Given the description of an element on the screen output the (x, y) to click on. 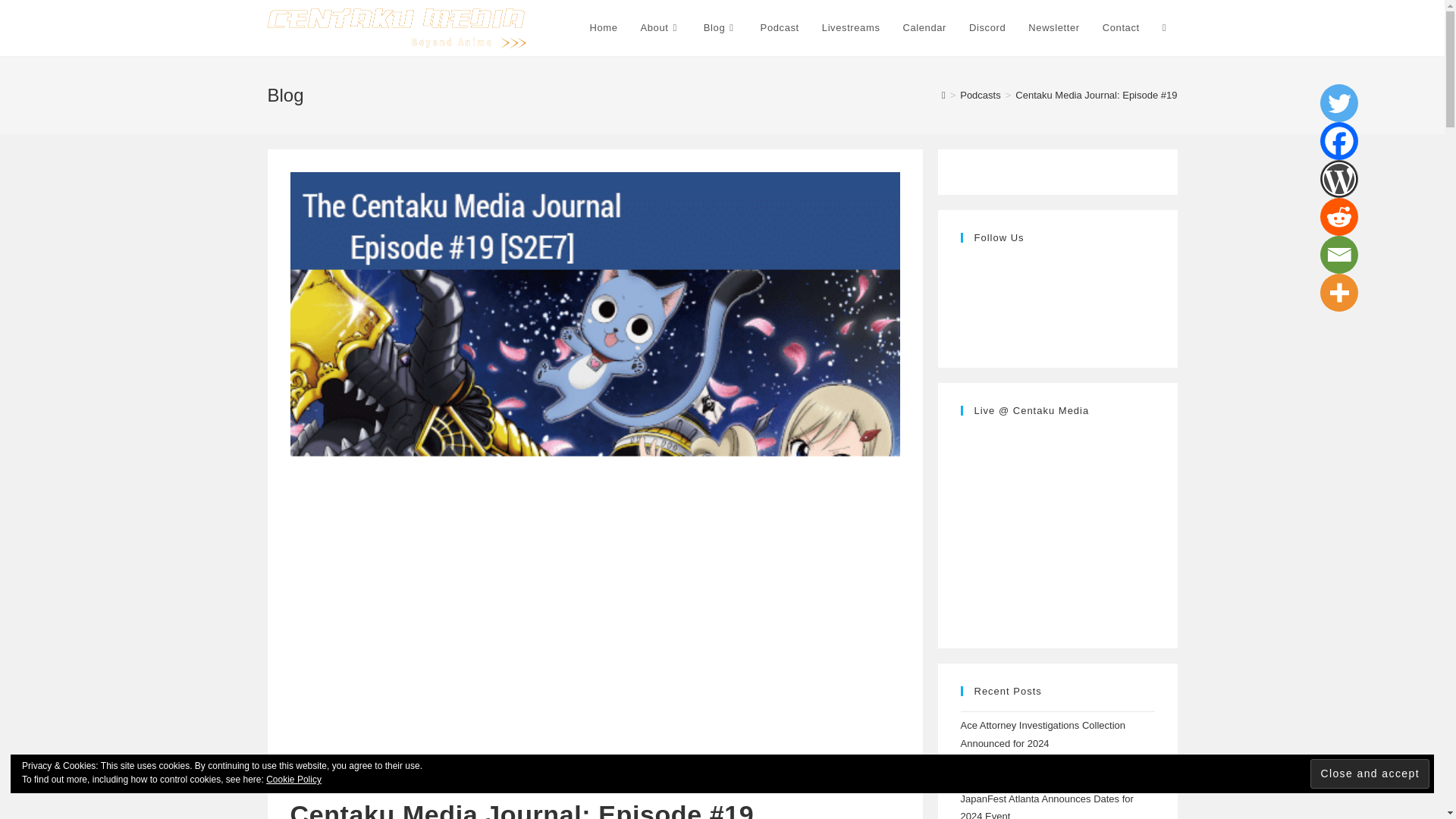
Facebook (1339, 140)
About (659, 28)
WordPress (1339, 178)
Discord (987, 28)
Email (1339, 254)
Read on the history of Centaku Media (659, 28)
Livestreams (850, 28)
More (1339, 292)
Join our Newsletter (1053, 28)
Reddit (1339, 216)
